Given the description of an element on the screen output the (x, y) to click on. 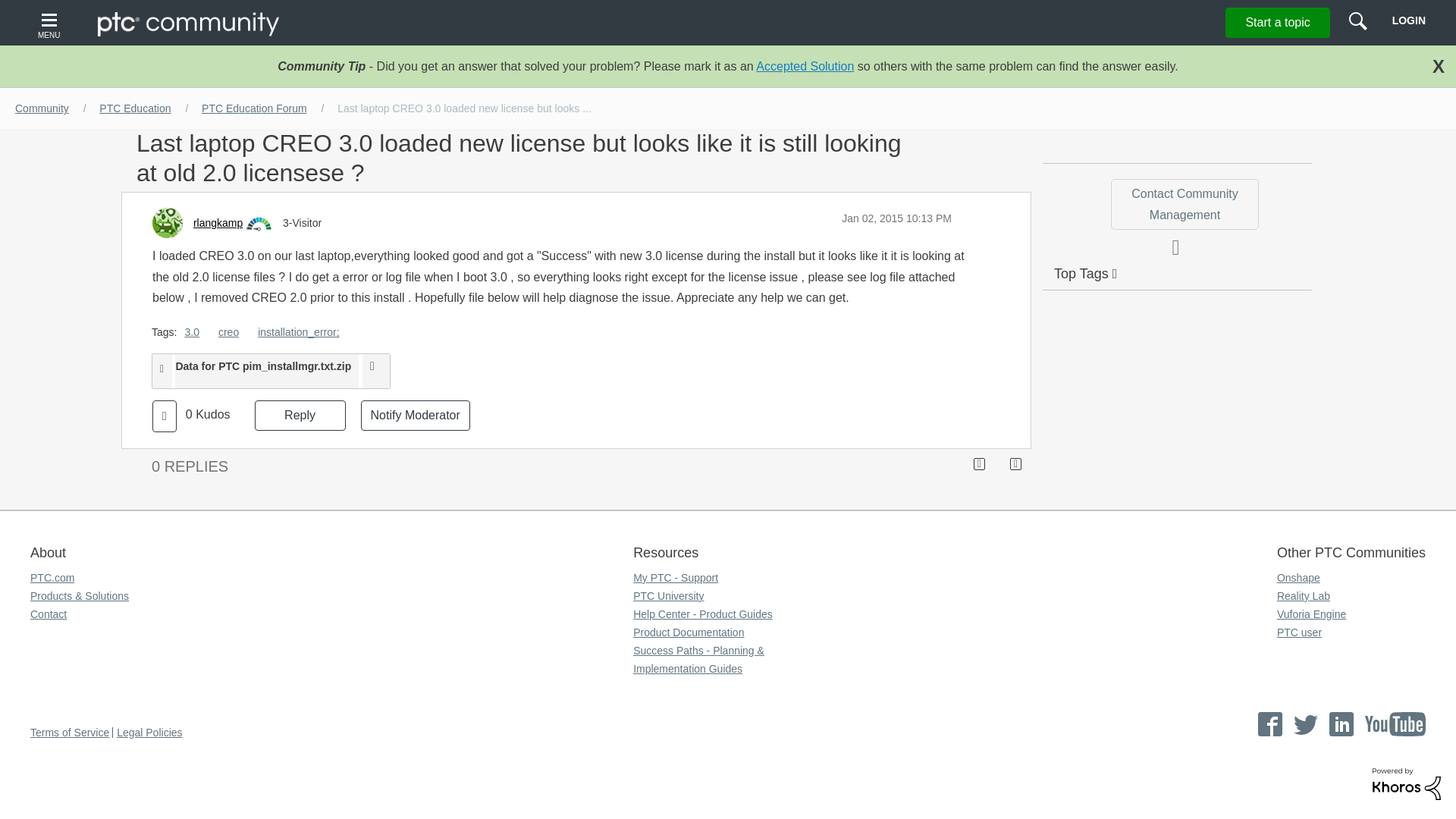
LOGIN (1408, 20)
Reply (300, 415)
creo (228, 331)
Accepted Solution (804, 65)
Community (42, 108)
PTC Education Forum (253, 108)
rlangkamp (218, 223)
Notify Moderator (415, 415)
3.0 (191, 331)
Start a topic (1277, 22)
